Given the description of an element on the screen output the (x, y) to click on. 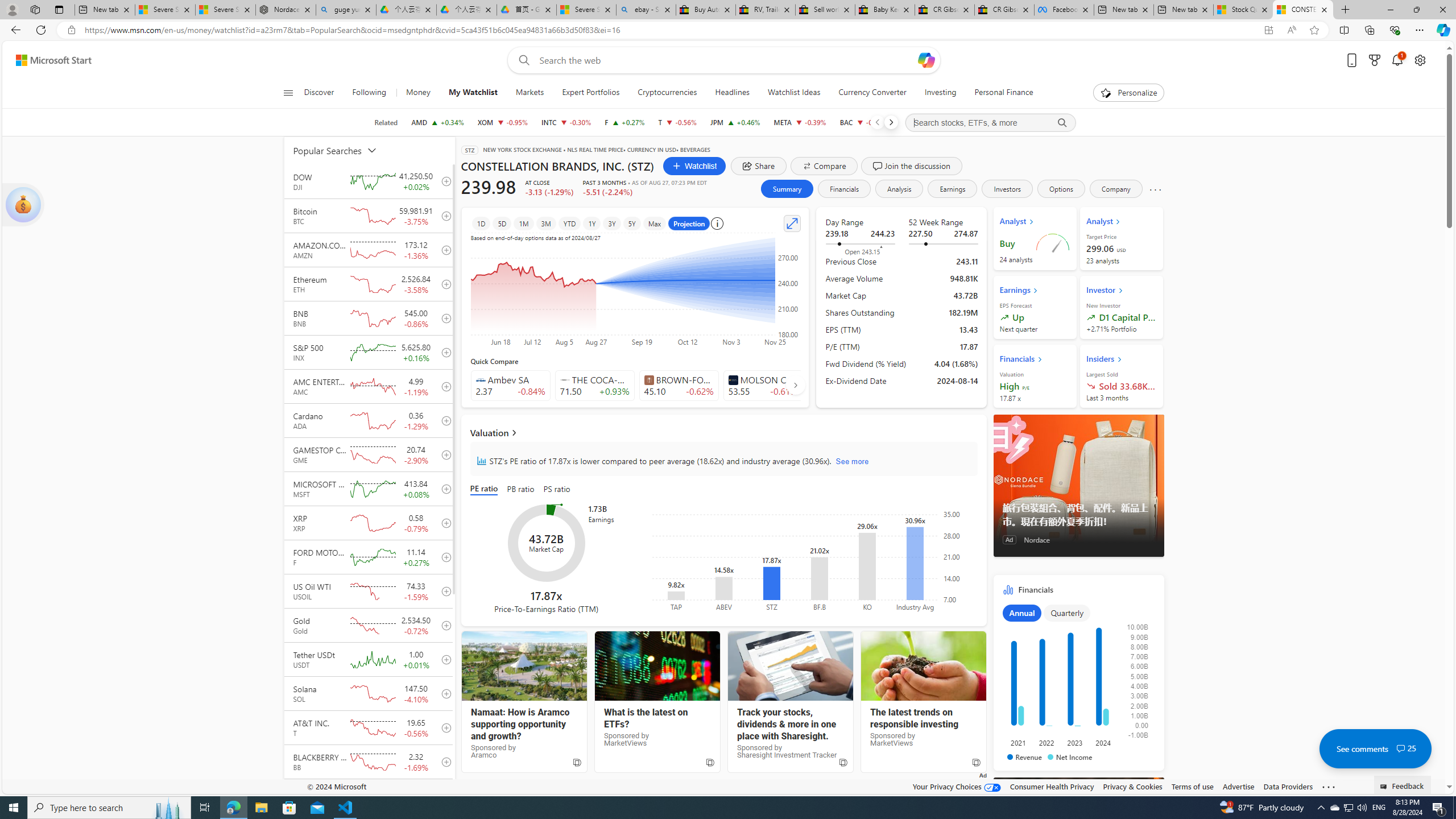
Personal Finance (999, 92)
Investing (940, 92)
My Watchlist (472, 92)
INTC INTEL CORPORATION decrease 20.07 -0.06 -0.30% (566, 122)
Markets (529, 92)
Class: card_head_icon_lightMode-DS-EntryPoint1-1 (1119, 358)
Class: recharts-surface (811, 559)
Terms of use (1192, 786)
